Given the description of an element on the screen output the (x, y) to click on. 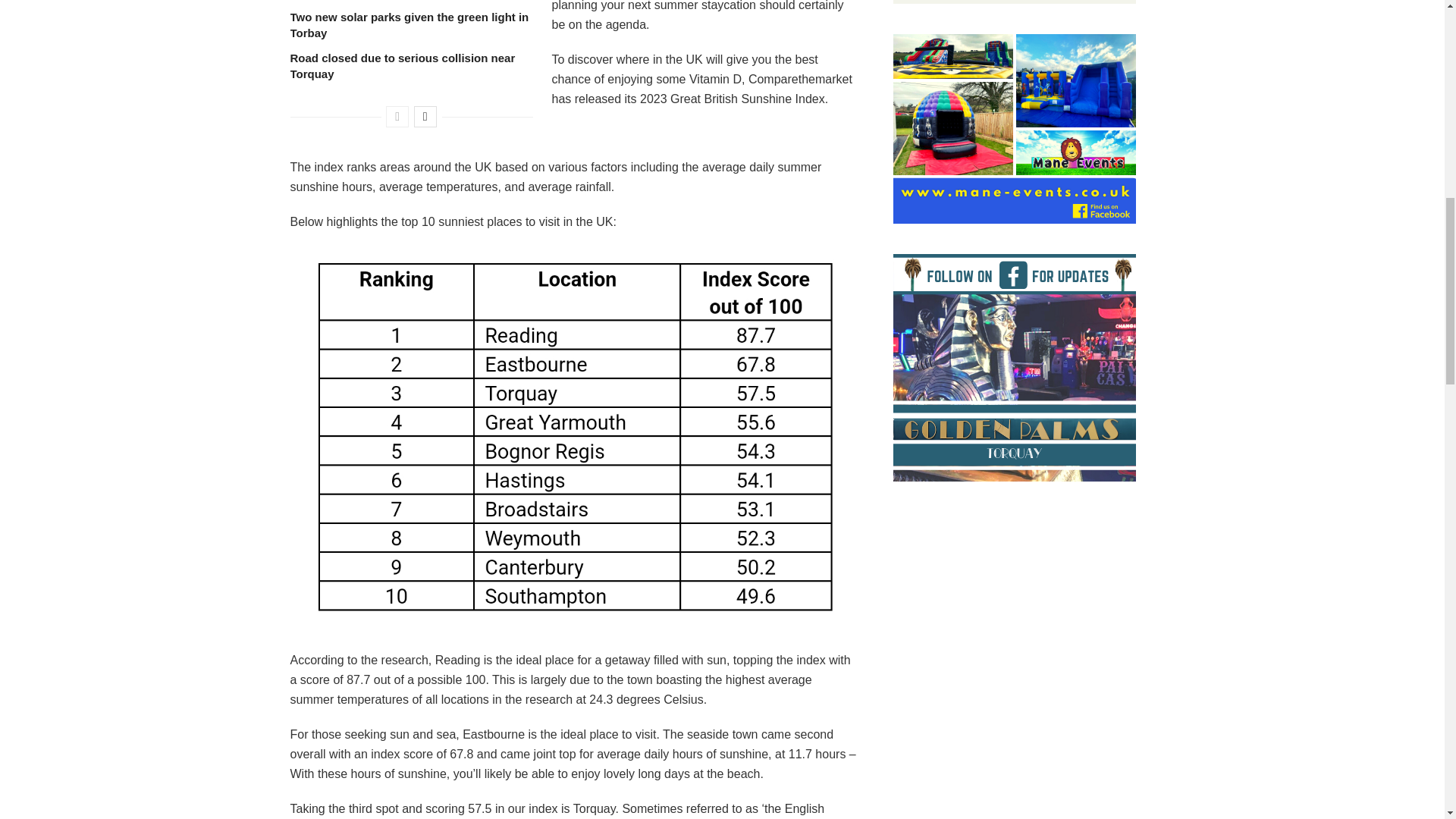
Previous (397, 116)
Next (424, 116)
Road closed due to serious collision near Torquay (402, 65)
Two new solar parks given the green light in Torbay (408, 24)
